Given the description of an element on the screen output the (x, y) to click on. 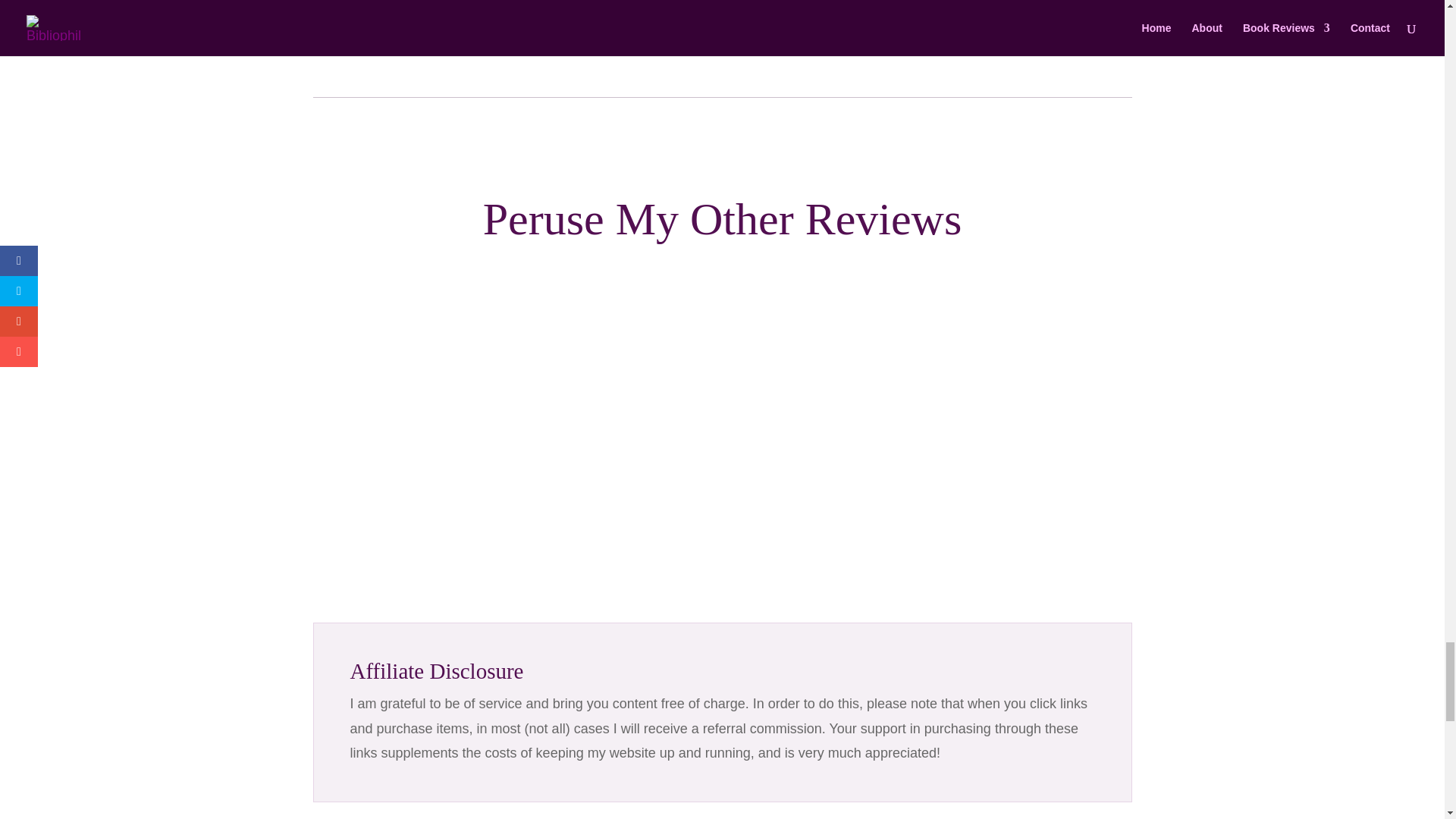
2016 NetGalley Challenge (689, 43)
NetGalley Professional Reader (495, 43)
Frequently Auto-Approved (560, 43)
Great Escape Tour Host (821, 43)
Reviews Published (753, 43)
200 Book Reviews (624, 43)
BethanyHouse Blogger Reviewer (919, 43)
